Given the description of an element on the screen output the (x, y) to click on. 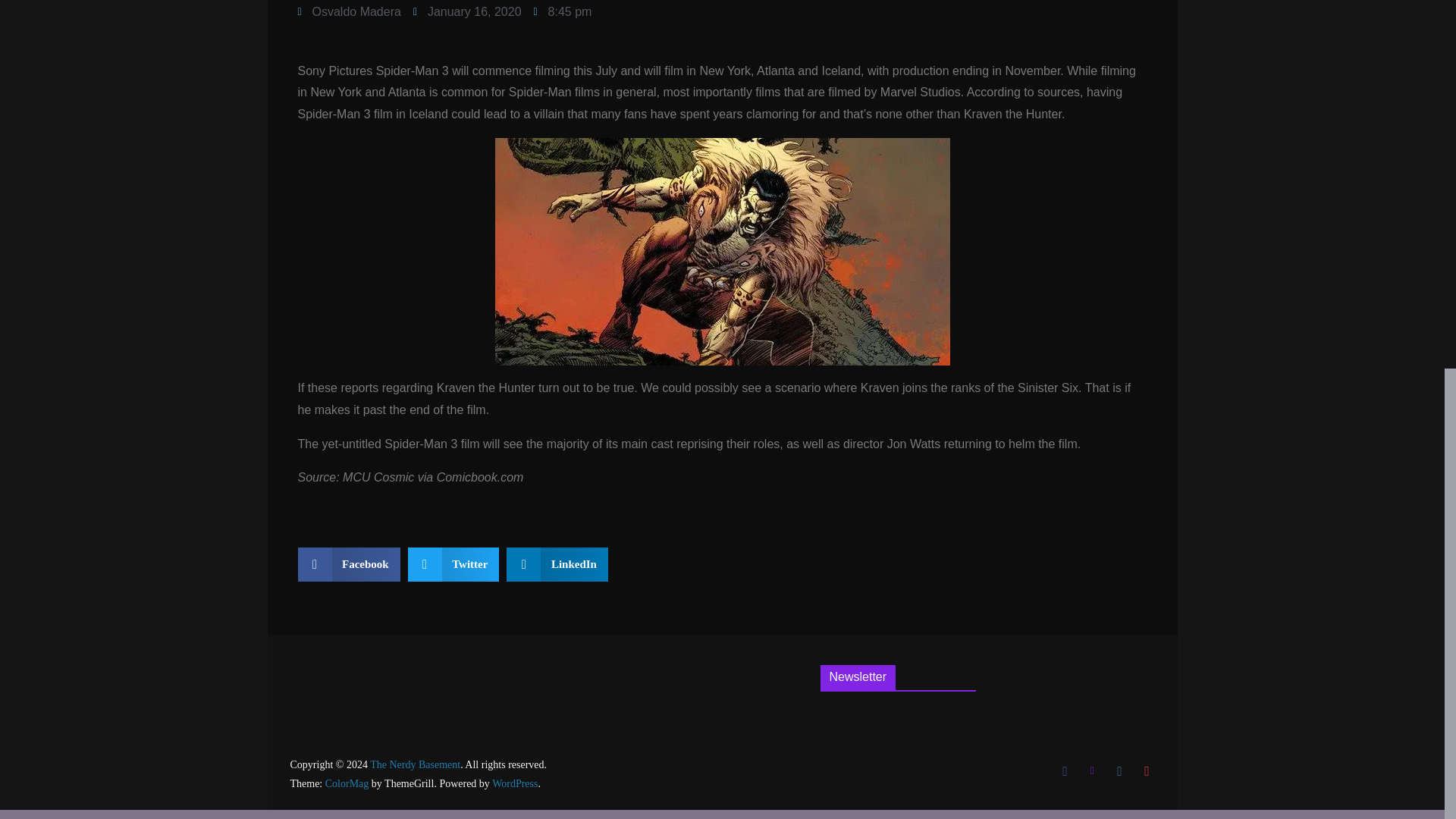
ColorMag (346, 783)
Osvaldo Madera (348, 12)
The Nerdy Basement (414, 764)
WordPress (514, 783)
The Nerdy Basement (414, 764)
January 16, 2020 (467, 12)
ColorMag (346, 783)
WordPress (514, 783)
